Given the description of an element on the screen output the (x, y) to click on. 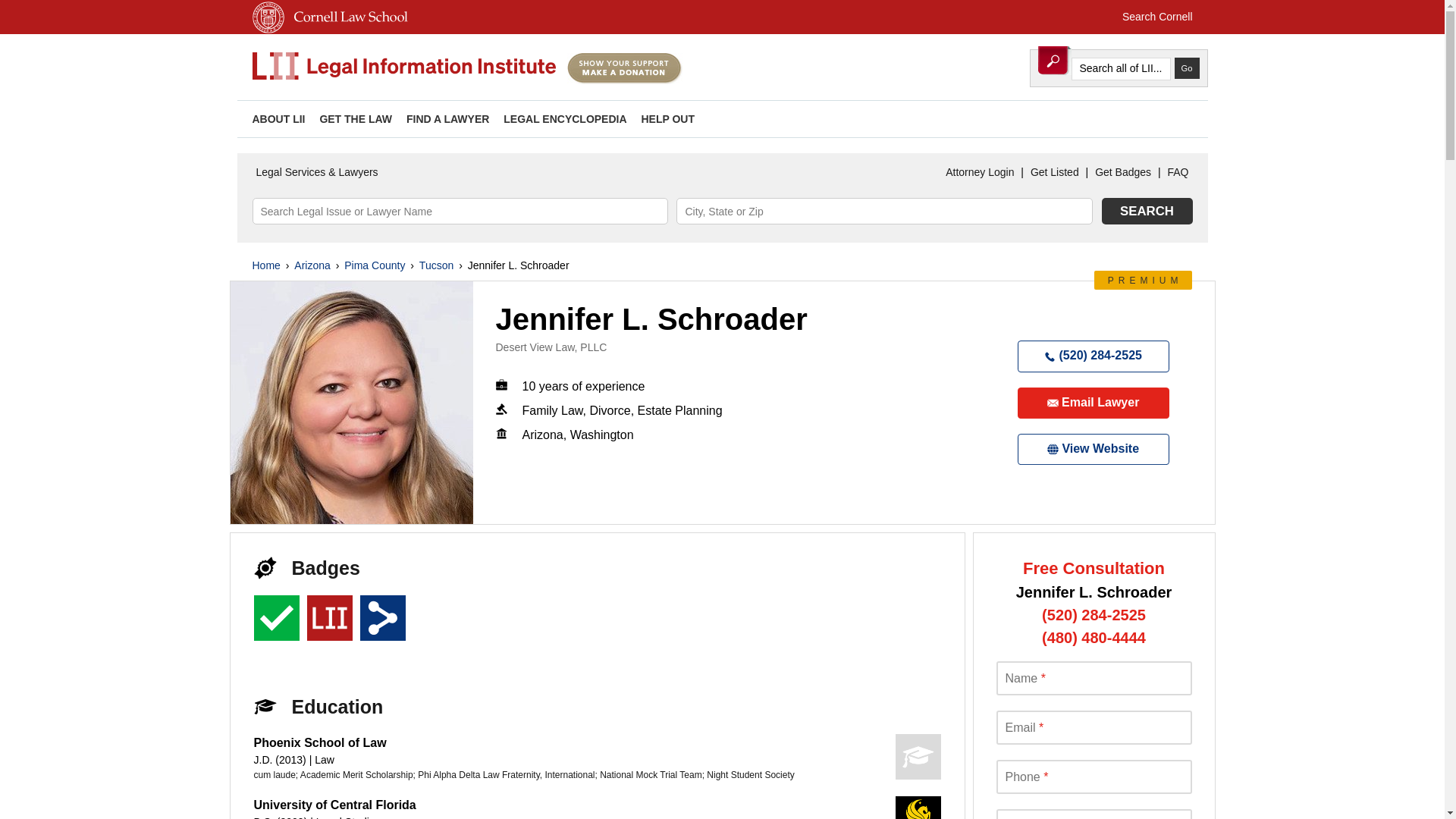
HELP OUT (667, 119)
Desert View Law, PLLC (551, 346)
SEARCH (1146, 211)
Search Cornell (1157, 16)
Cornell - LII Attorney Directory (402, 67)
City, State or Zip (885, 211)
FIND A LAWYER (447, 119)
Arizona (312, 264)
Message (1093, 814)
GET THE LAW (354, 119)
Get Badges (1122, 172)
Phone (1093, 776)
FAQ (1177, 172)
Attorney Login (979, 172)
Email (1093, 727)
